Given the description of an element on the screen output the (x, y) to click on. 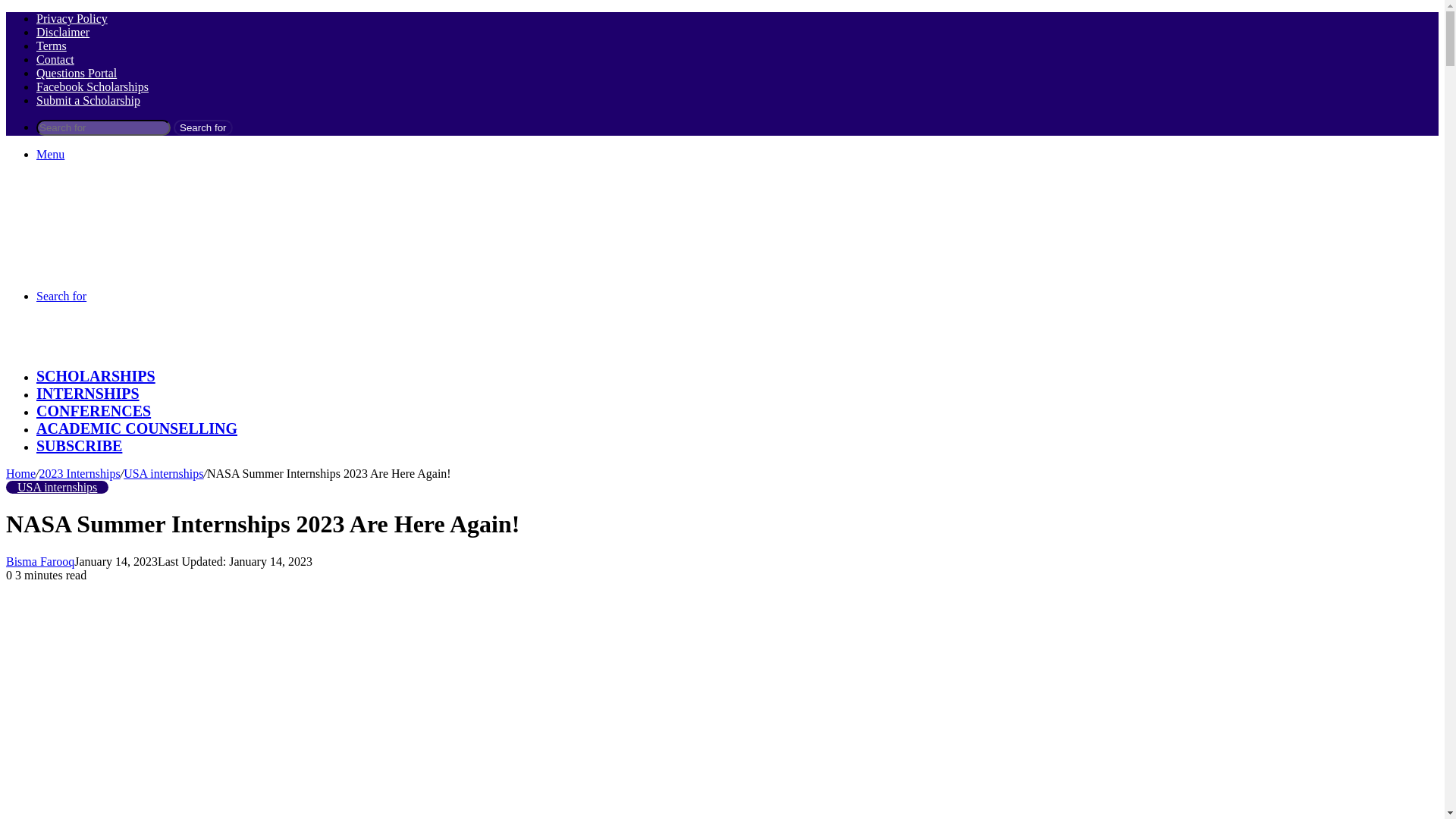
Search for (202, 127)
Bisma Farooq (39, 561)
Menu (50, 154)
Terms (51, 45)
USA internships (56, 486)
Bisma Farooq (39, 561)
INTERNSHIPS (87, 393)
Disclaimer (62, 31)
Questions Portal (76, 72)
SCHOLARSHIPS (95, 375)
Home (19, 472)
Submit a Scholarship (87, 100)
CONFERENCES (93, 410)
2023 Internships (79, 472)
SUBSCRIBE (79, 445)
